Given the description of an element on the screen output the (x, y) to click on. 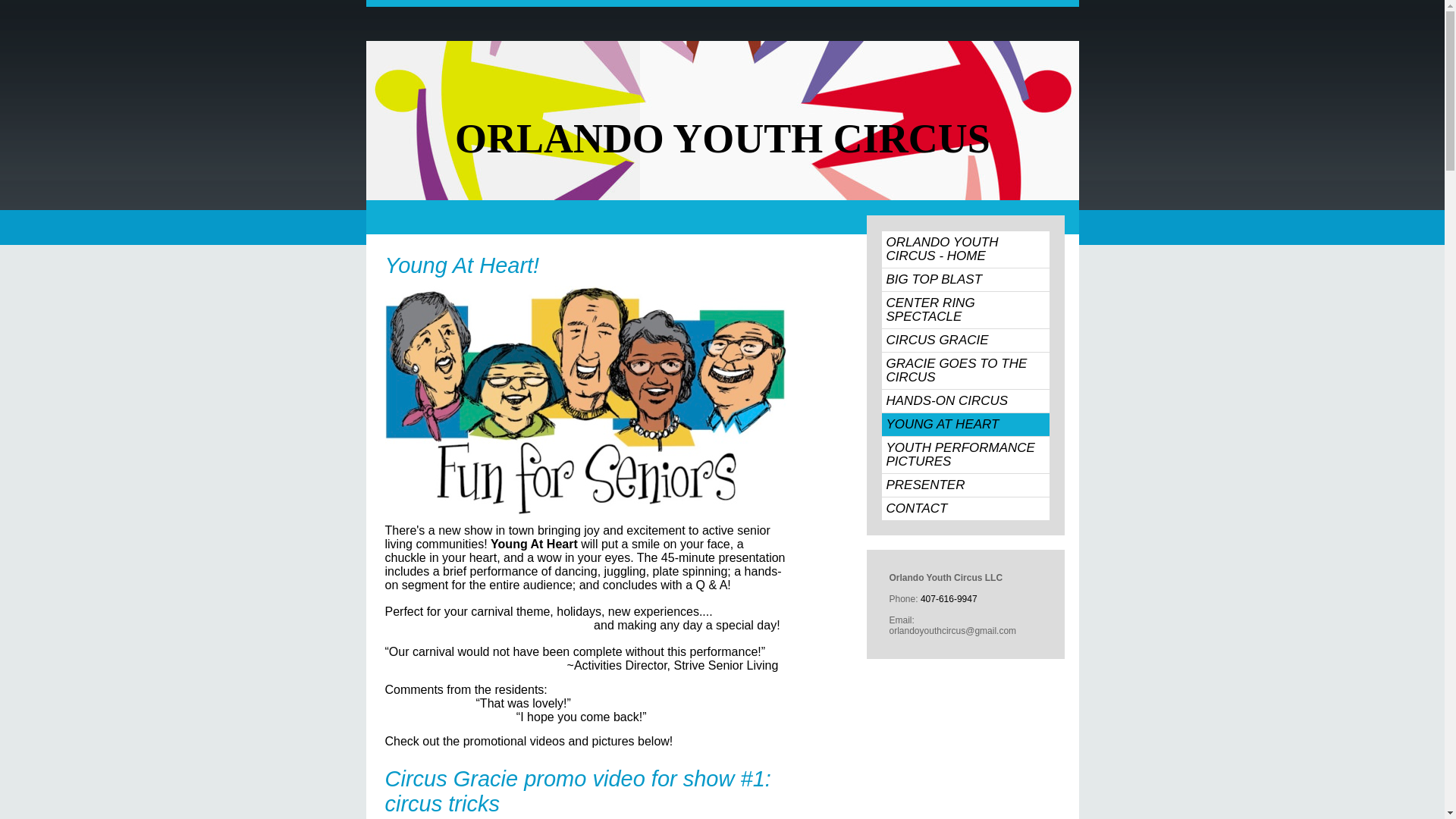
CENTER RING SPECTACLE (964, 309)
GRACIE GOES TO THE CIRCUS (964, 370)
PRESENTER (964, 485)
HANDS-ON CIRCUS (964, 400)
407-616-9947 (948, 598)
YOUTH PERFORMANCE PICTURES (964, 454)
BIG TOP BLAST (964, 279)
ORLANDO YOUTH CIRCUS (722, 137)
CIRCUS GRACIE (964, 340)
YOUNG AT HEART (964, 424)
ORLANDO YOUTH CIRCUS - HOME (964, 248)
CONTACT (964, 508)
